Given the description of an element on the screen output the (x, y) to click on. 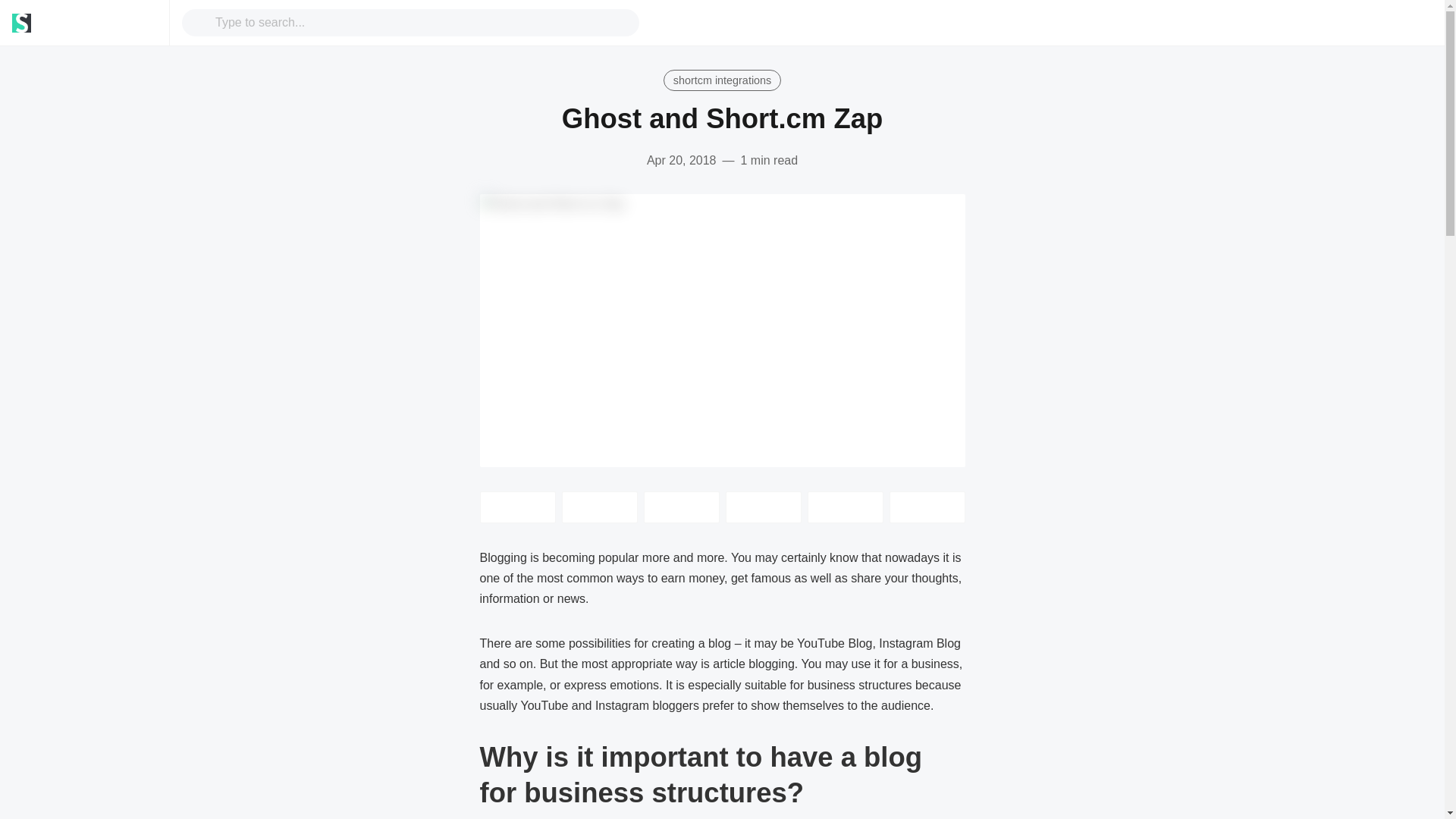
Share on Facebook (598, 506)
shortcm integrations (721, 79)
Search (201, 22)
Bookmark (925, 506)
Share on Linkedin (681, 506)
Menu (144, 22)
shortcm integrations (721, 79)
Share on Twitter (516, 506)
Search (421, 22)
Copy to clipboard (844, 506)
